Given the description of an element on the screen output the (x, y) to click on. 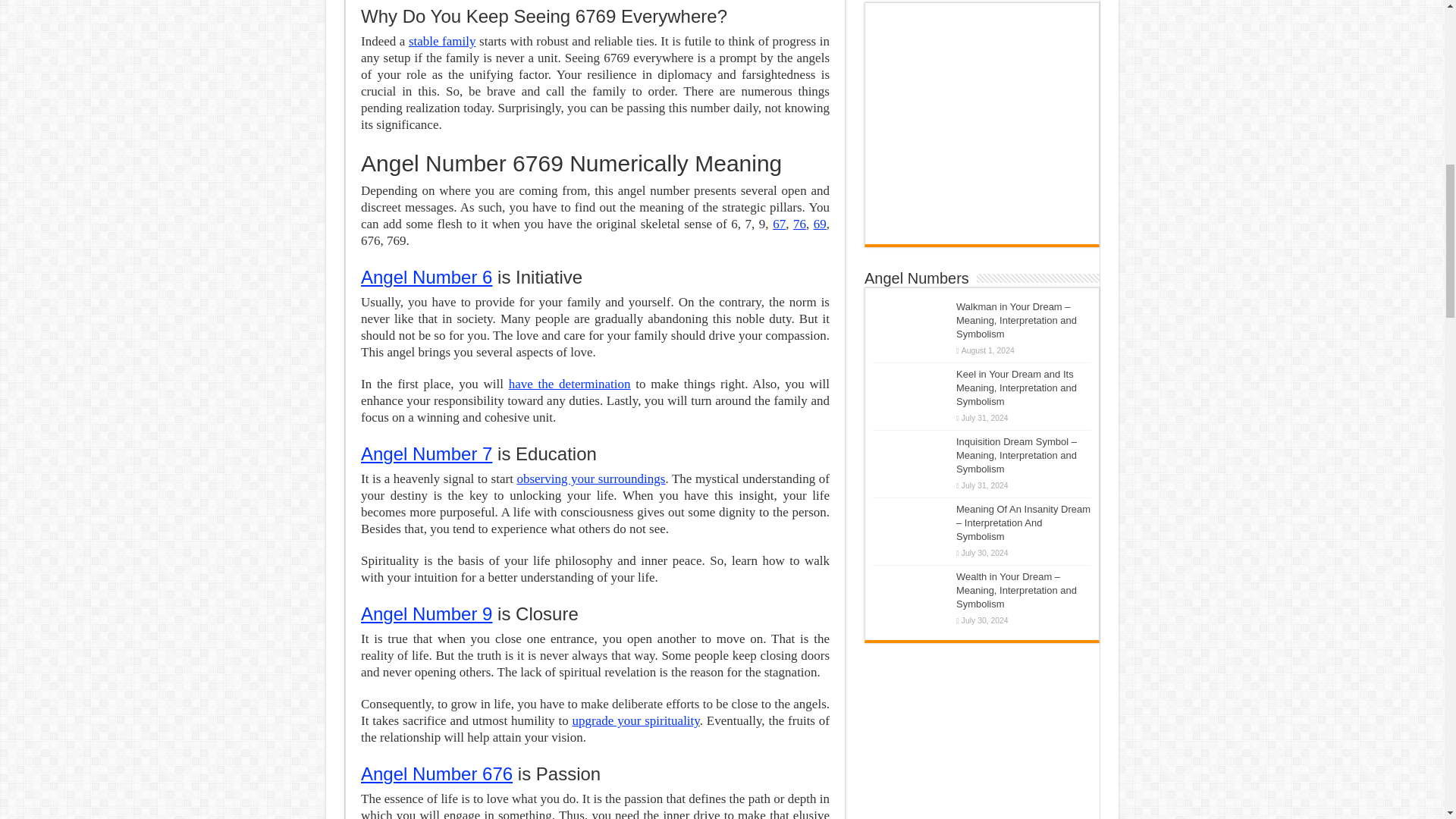
have the determination (569, 383)
67 (779, 223)
76 (799, 223)
Angel Number 9 (426, 613)
upgrade your spirituality (636, 720)
Angel Number 6 (426, 276)
observing your surroundings (590, 478)
stable family (442, 41)
Angel Number 676 (436, 773)
69 (820, 223)
